Given the description of an element on the screen output the (x, y) to click on. 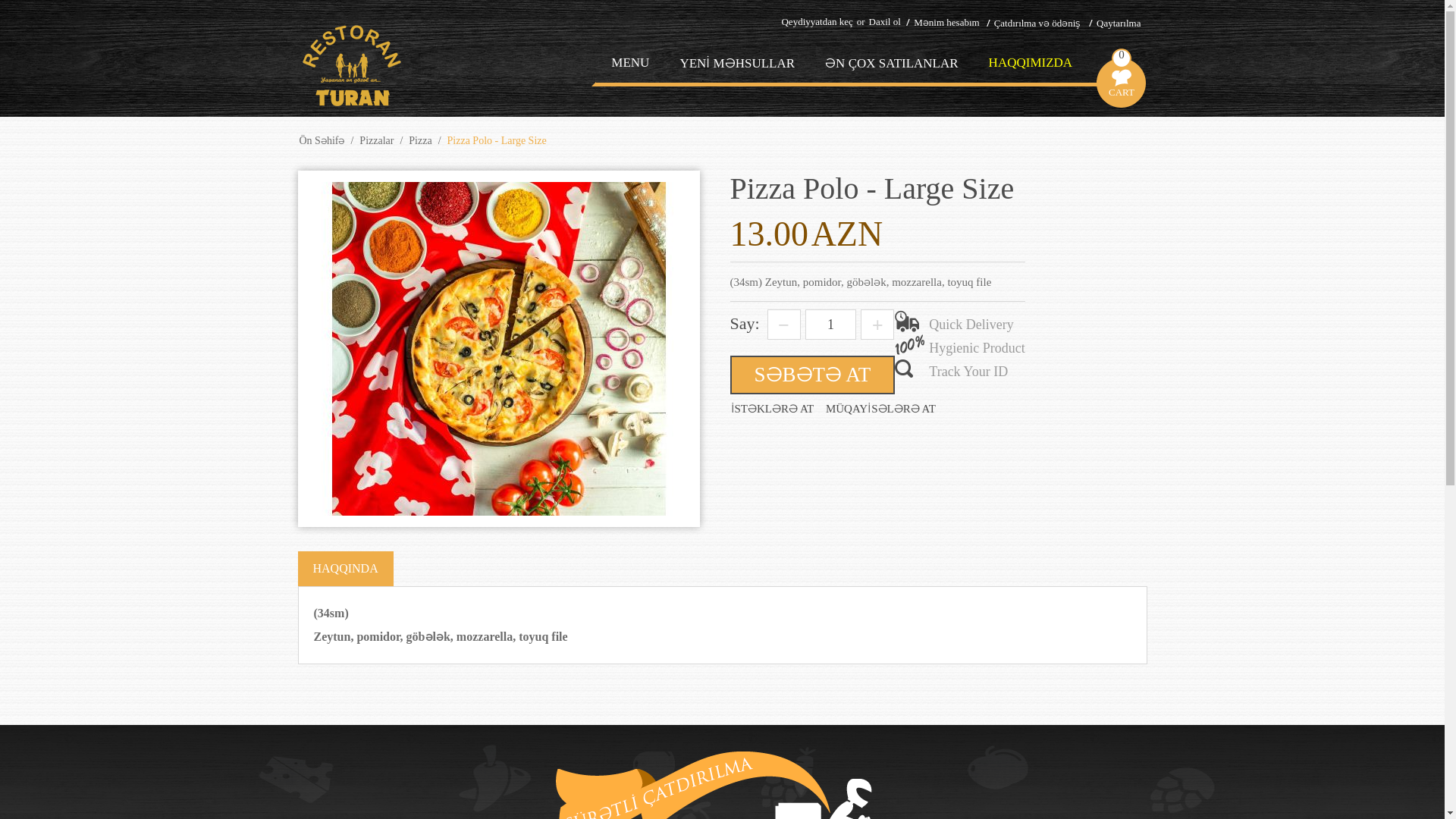
HAQQIMIZDA Element type: text (1030, 62)
MENU Element type: text (630, 62)
Pizzalar Element type: text (376, 140)
Pizza Element type: text (420, 140)
HAQQINDA Element type: text (344, 568)
Daxil ol Element type: text (880, 21)
+ Element type: text (877, 324)
0
CART Element type: text (1121, 54)
